Given the description of an element on the screen output the (x, y) to click on. 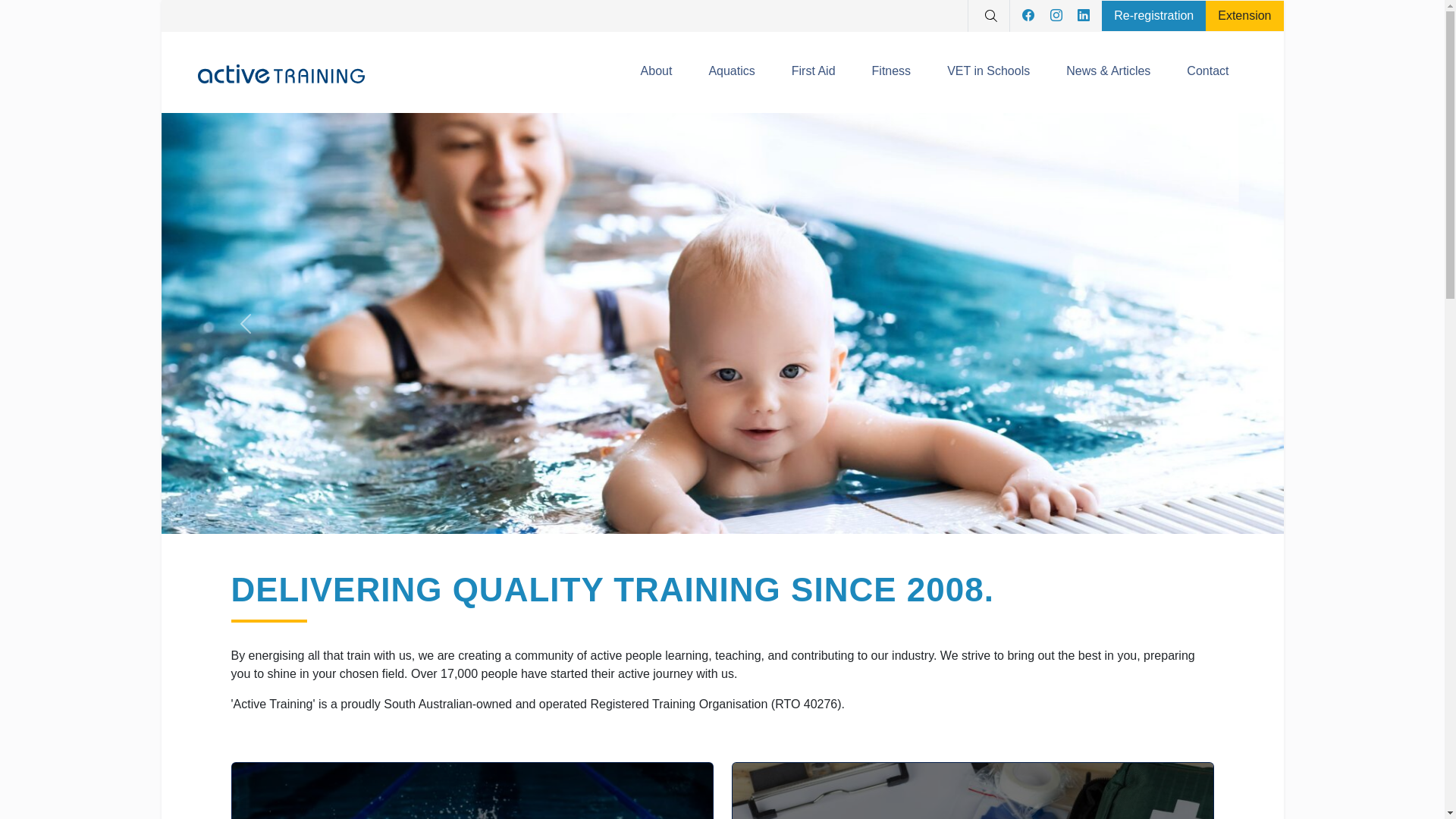
News & Articles Element type: text (1108, 72)
Aquatics Element type: text (731, 72)
Fitness Element type: text (891, 72)
First Aid Element type: text (813, 72)
About Element type: text (656, 72)
VET in Schools Element type: text (988, 72)
FIRST AID Element type: text (803, 586)
Extension Element type: text (1243, 15)
Contact Element type: text (1207, 72)
Follow us on Facebook Element type: text (1034, 15)
Next Element type: text (1198, 121)
Follow us on linkedIn Element type: text (1083, 15)
AQUATICS Element type: text (306, 586)
Follow us on Instagram Element type: text (1062, 15)
Re-registration Element type: text (1153, 15)
Previous Element type: text (244, 121)
